Given the description of an element on the screen output the (x, y) to click on. 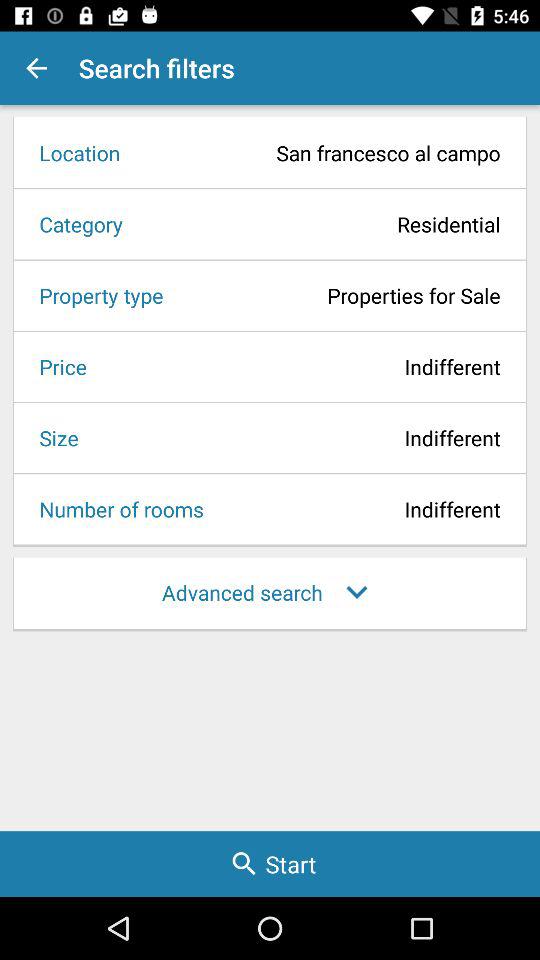
choose category (74, 224)
